Given the description of an element on the screen output the (x, y) to click on. 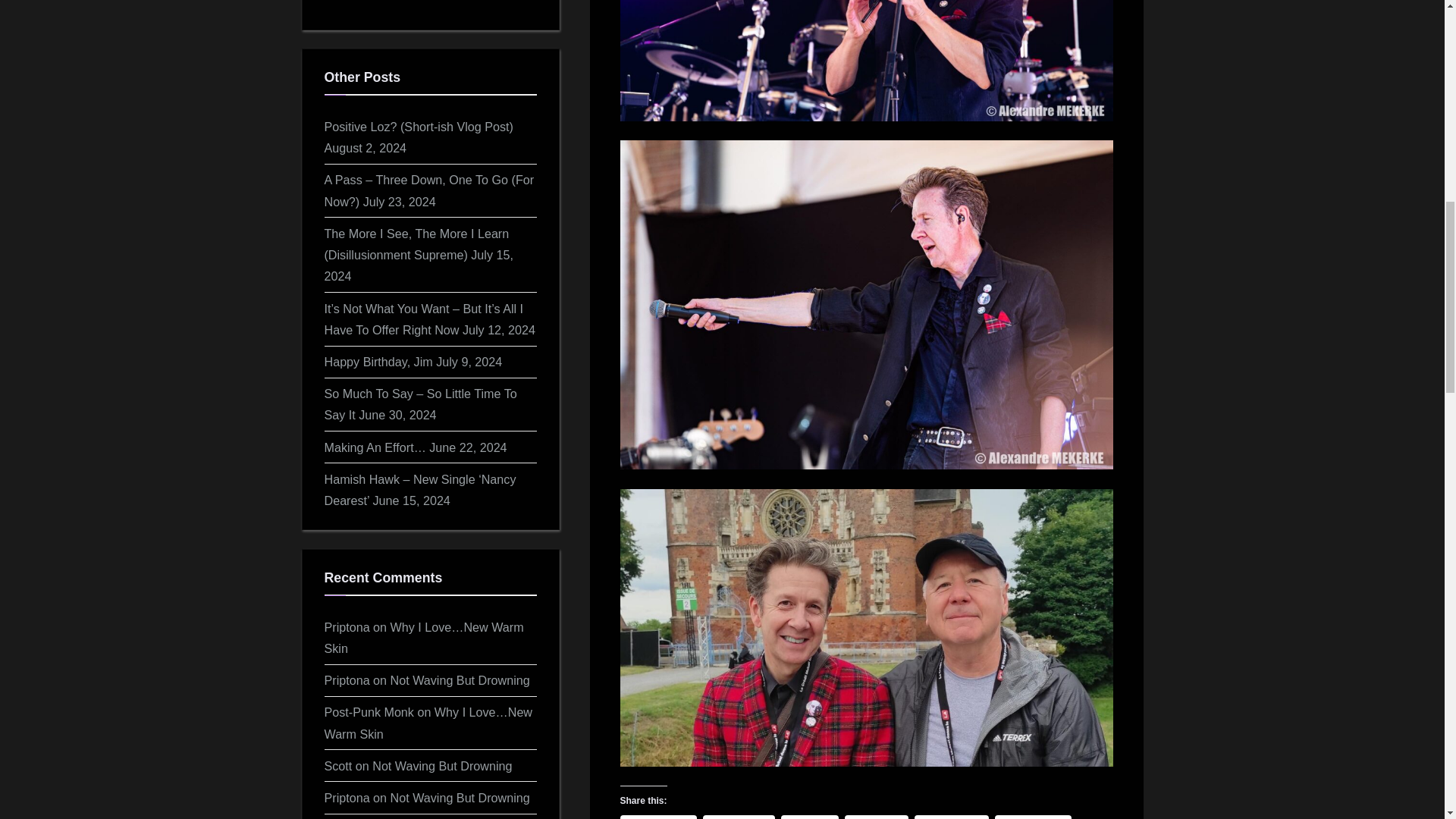
Click to email a link to a friend (810, 816)
Click to share on Telegram (951, 816)
Telegram (951, 816)
Pinterest (738, 816)
Email (810, 816)
Facebook (658, 816)
Mastodon (1032, 816)
Click to share on Mastodon (1032, 816)
Click to share on Tumblr (876, 816)
Click to share on Facebook (658, 816)
